Given the description of an element on the screen output the (x, y) to click on. 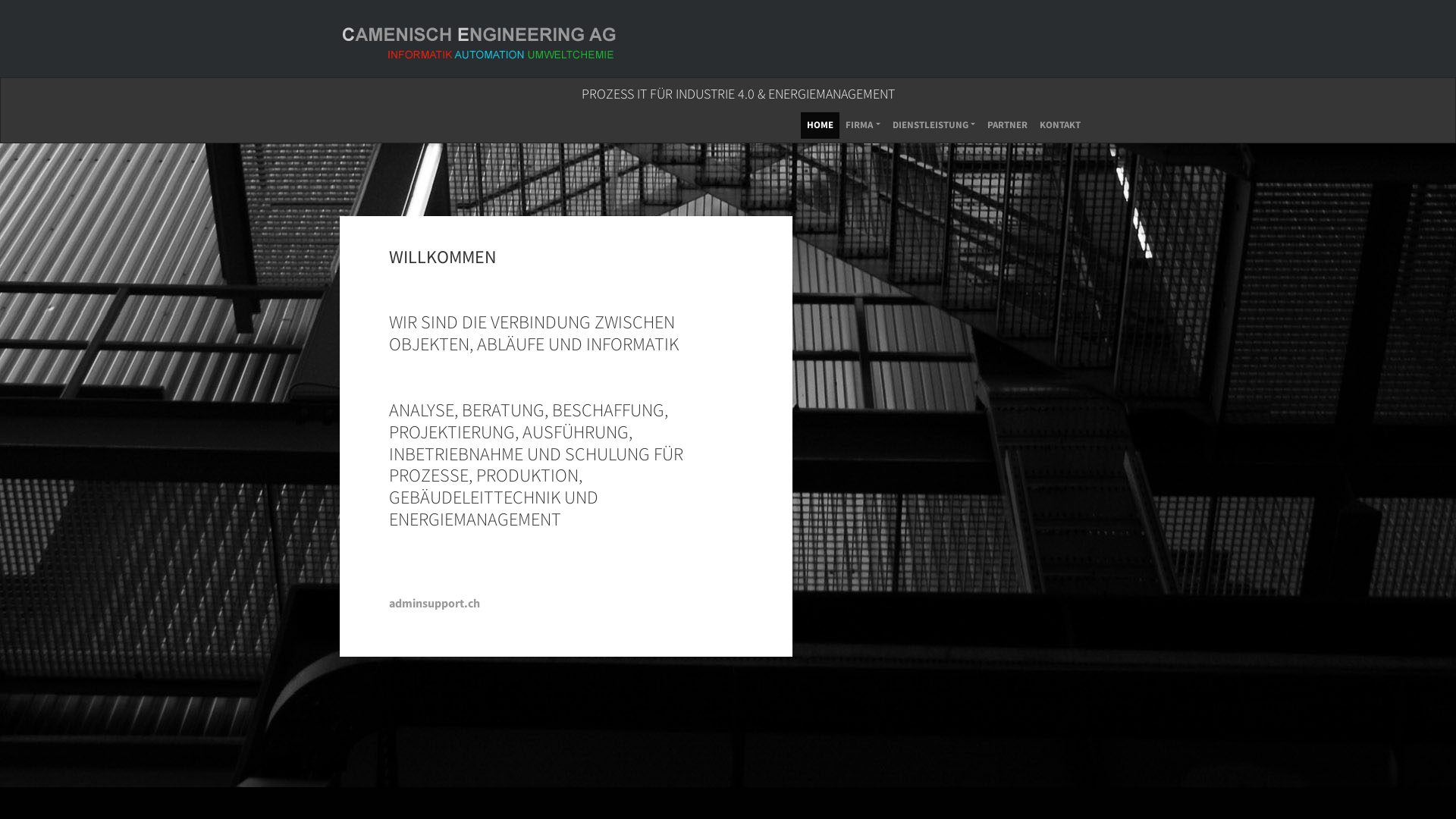
adminsupport.ch Element type: text (434, 602)
KONTAKT Element type: text (1059, 125)
FIRMA Element type: text (862, 125)
PARTNER Element type: text (1007, 125)
HOME Element type: text (819, 125)
DIENSTLEISTUNG Element type: text (933, 125)
